Given the description of an element on the screen output the (x, y) to click on. 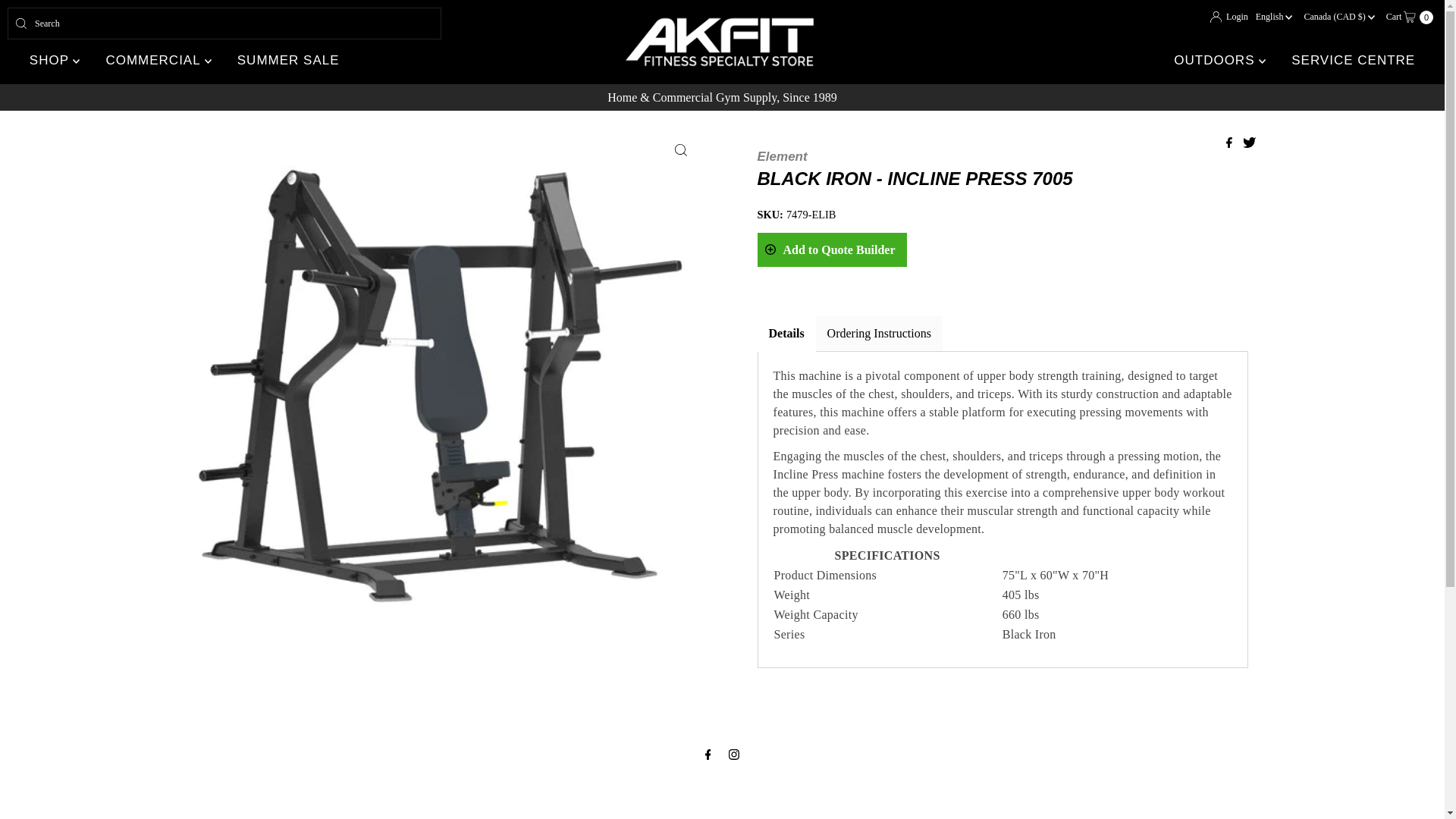
Share on Twitter (1249, 143)
English  (1409, 17)
Search our store (1273, 17)
  Login (224, 23)
